Given the description of an element on the screen output the (x, y) to click on. 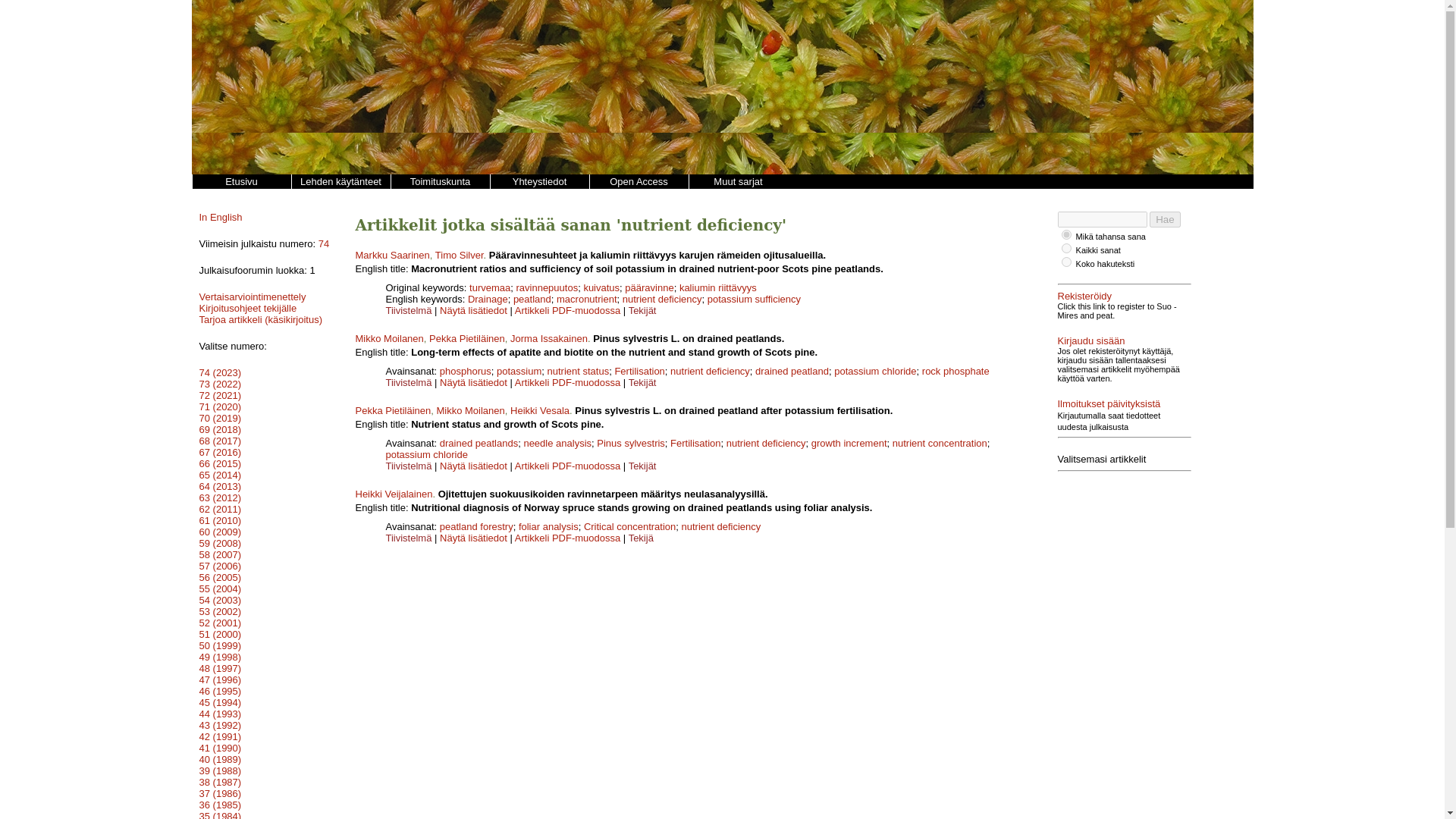
Hae (1164, 219)
Muut sarjat (737, 181)
Open Access (637, 181)
or (1066, 234)
Vertaisarviointimenettely (251, 296)
In English (219, 216)
and (1066, 248)
Toimituskunta (439, 181)
Yhteystiedot (539, 181)
Etusivu (239, 181)
